Given the description of an element on the screen output the (x, y) to click on. 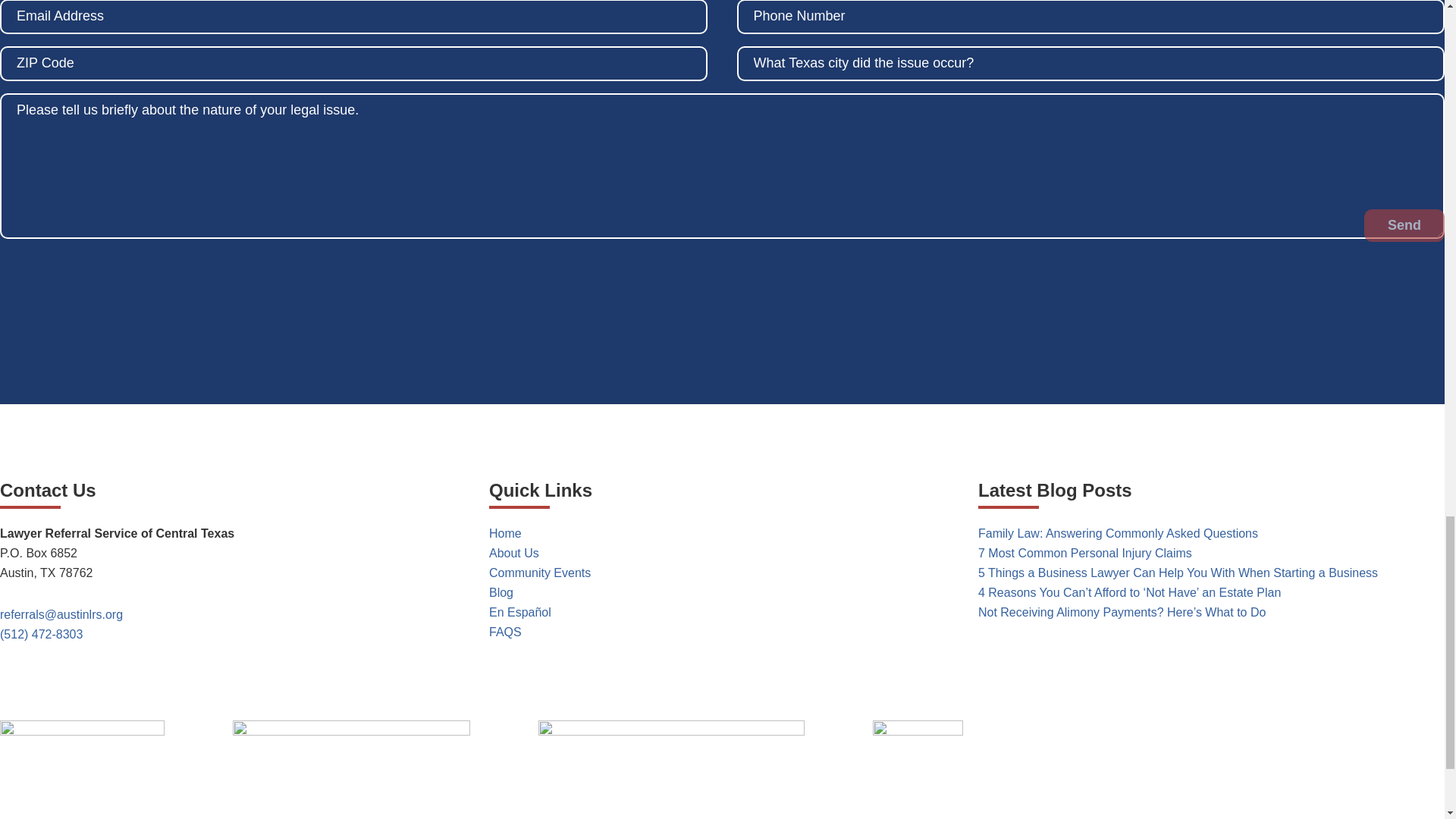
FAQS (505, 631)
Blog (501, 592)
Home (505, 533)
Community Events (540, 572)
About Us (513, 553)
7 Most Common Personal Injury Claims (1085, 553)
Family Law: Answering Commonly Asked Questions (1117, 533)
